Given the description of an element on the screen output the (x, y) to click on. 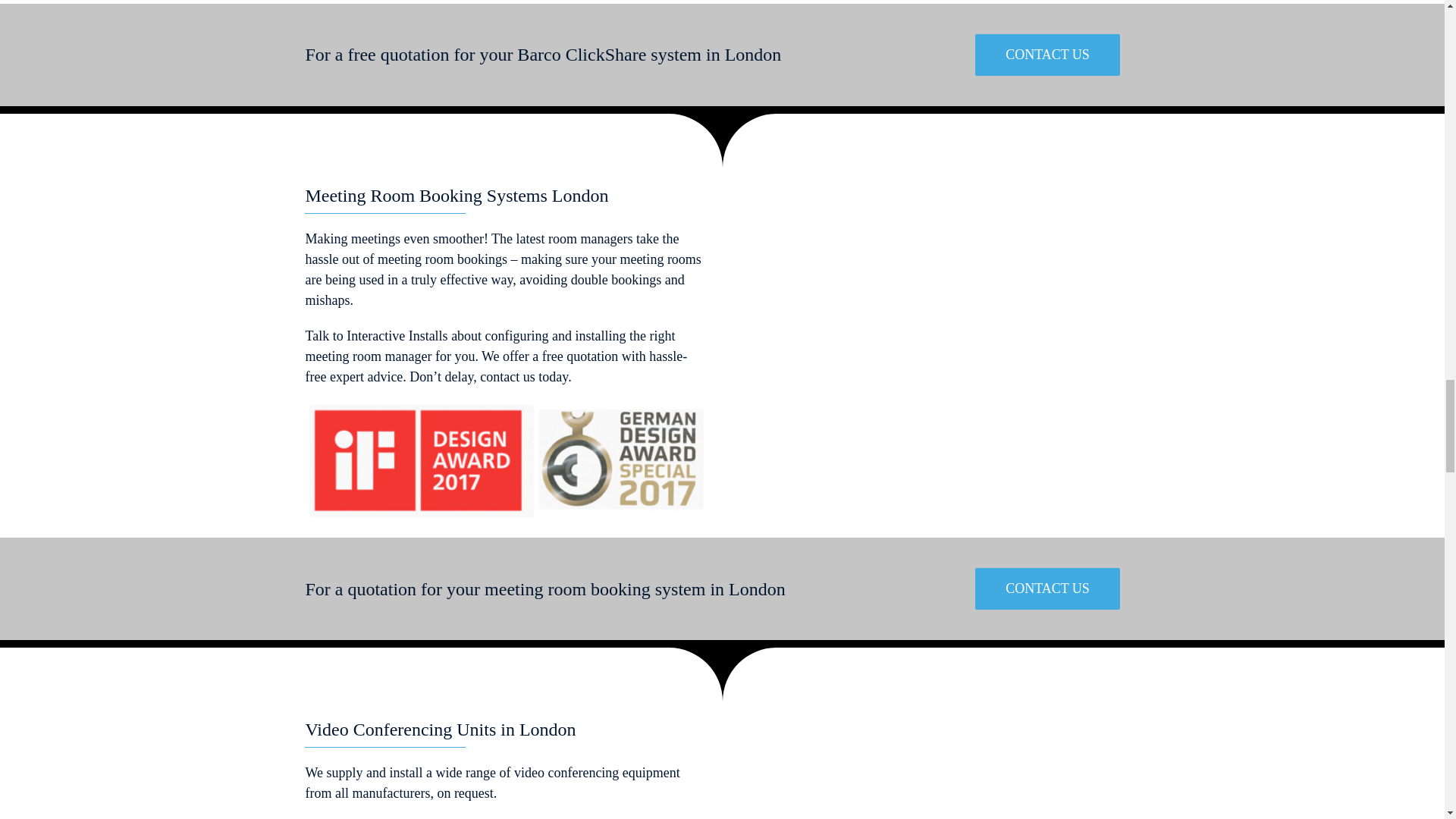
YouTube video player 3 (938, 344)
meeting-room-awards-logo (504, 462)
CONTACT US (1047, 588)
CONTACT US (1047, 55)
